Given the description of an element on the screen output the (x, y) to click on. 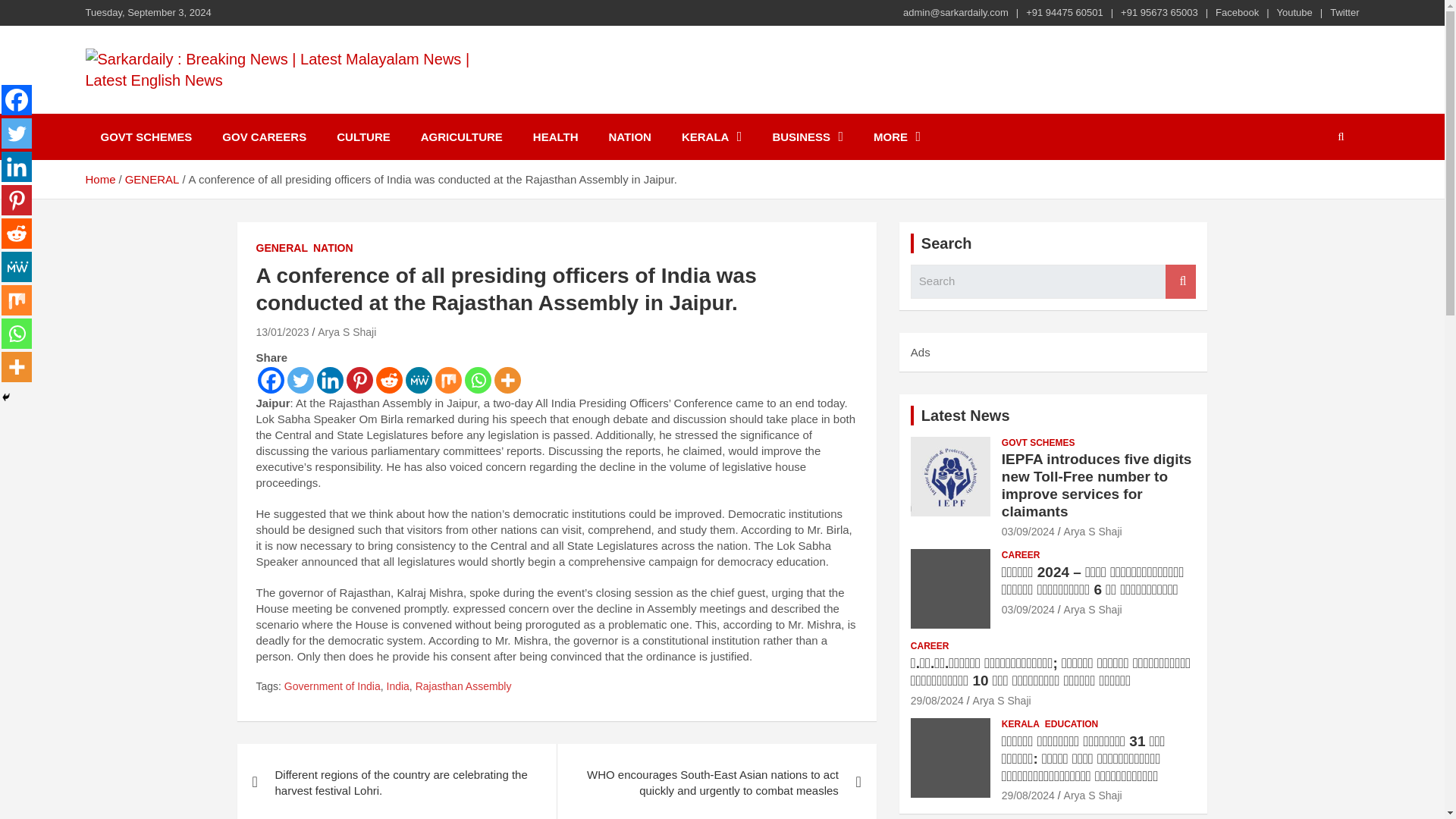
Arya S Shaji (346, 331)
Twitter (16, 132)
Home (99, 178)
Pinterest (359, 379)
MeWe (417, 379)
Linkedin (330, 379)
Whatsapp (477, 379)
Facebook (1237, 12)
Youtube (1294, 12)
Mix (448, 379)
